Given the description of an element on the screen output the (x, y) to click on. 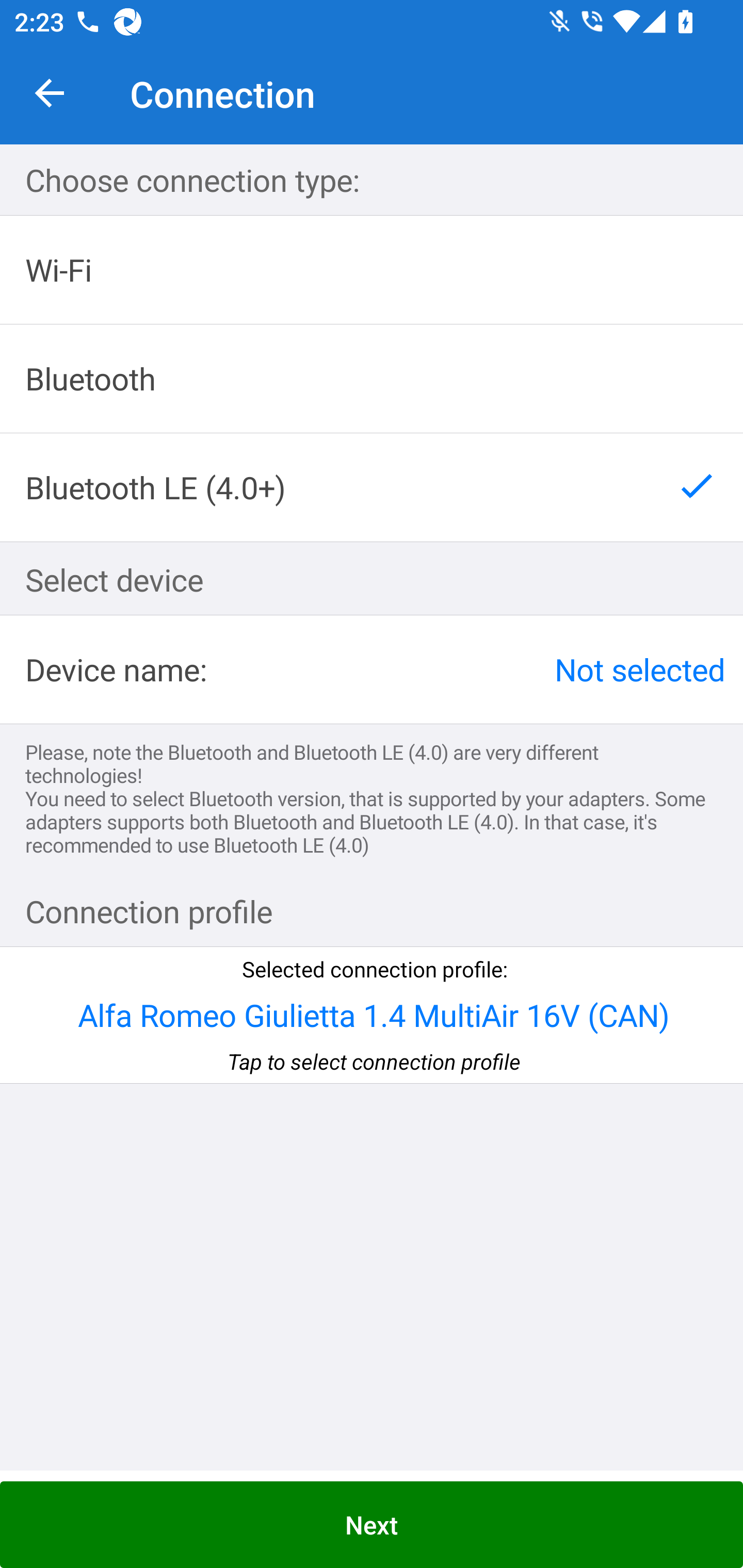
Wi-Fi (371, 270)
Bluetooth (371, 378)
Bluetooth LE (4.0+) (371, 486)
Device name: Not selected (371, 669)
Next (371, 1524)
